Given the description of an element on the screen output the (x, y) to click on. 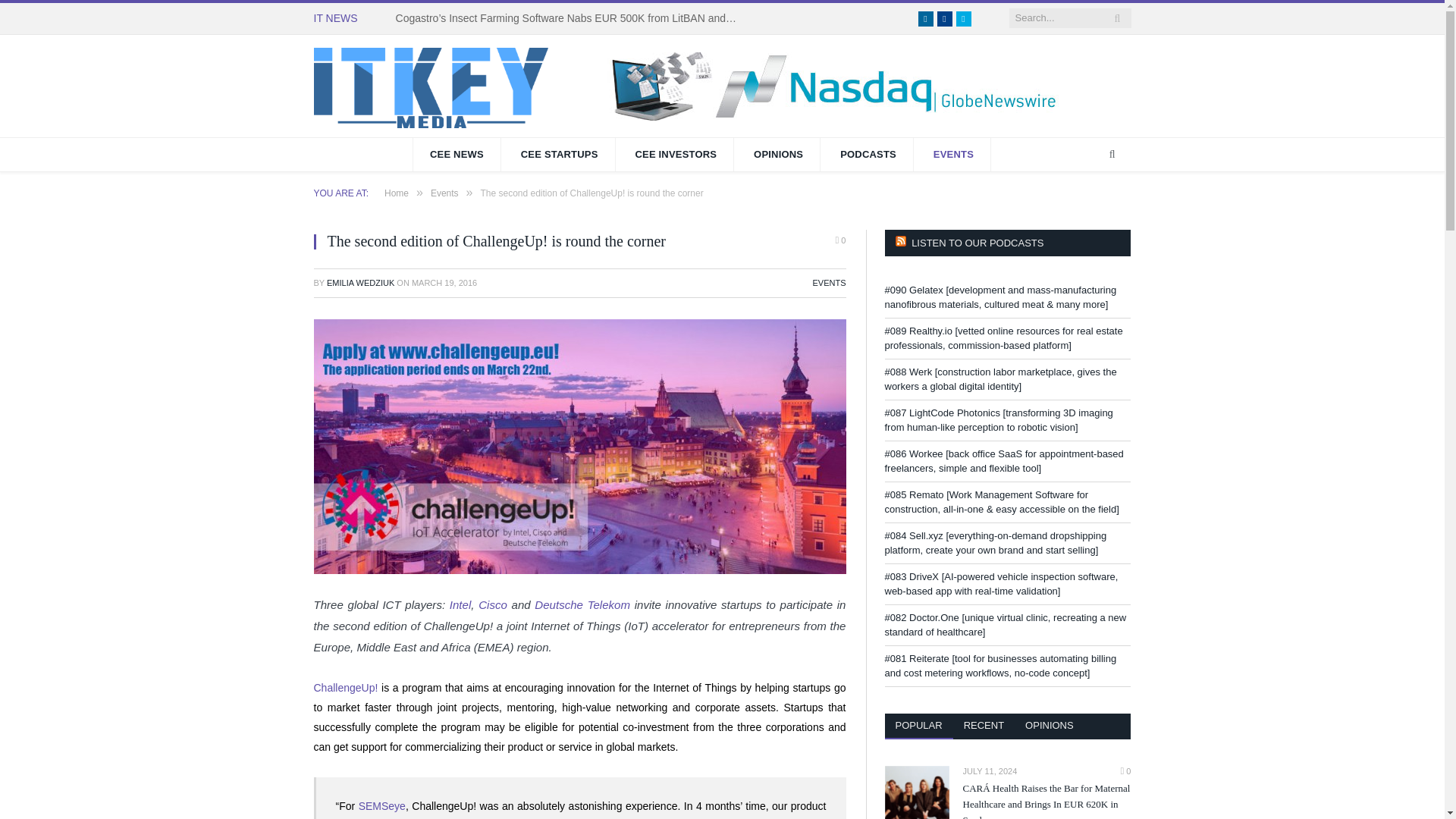
ITKeyMedia (431, 85)
Twitter (963, 18)
EVENTS (828, 282)
CEE STARTUPS (559, 154)
CEE INVESTORS (675, 154)
Search (1112, 154)
OPINIONS (778, 154)
EMILIA WEDZIUK (360, 282)
Posts by Emilia Wedziuk (360, 282)
Home (396, 193)
EVENTS (954, 154)
LinkedIn (925, 18)
2016-03-19 (444, 282)
PODCASTS (869, 154)
